Given the description of an element on the screen output the (x, y) to click on. 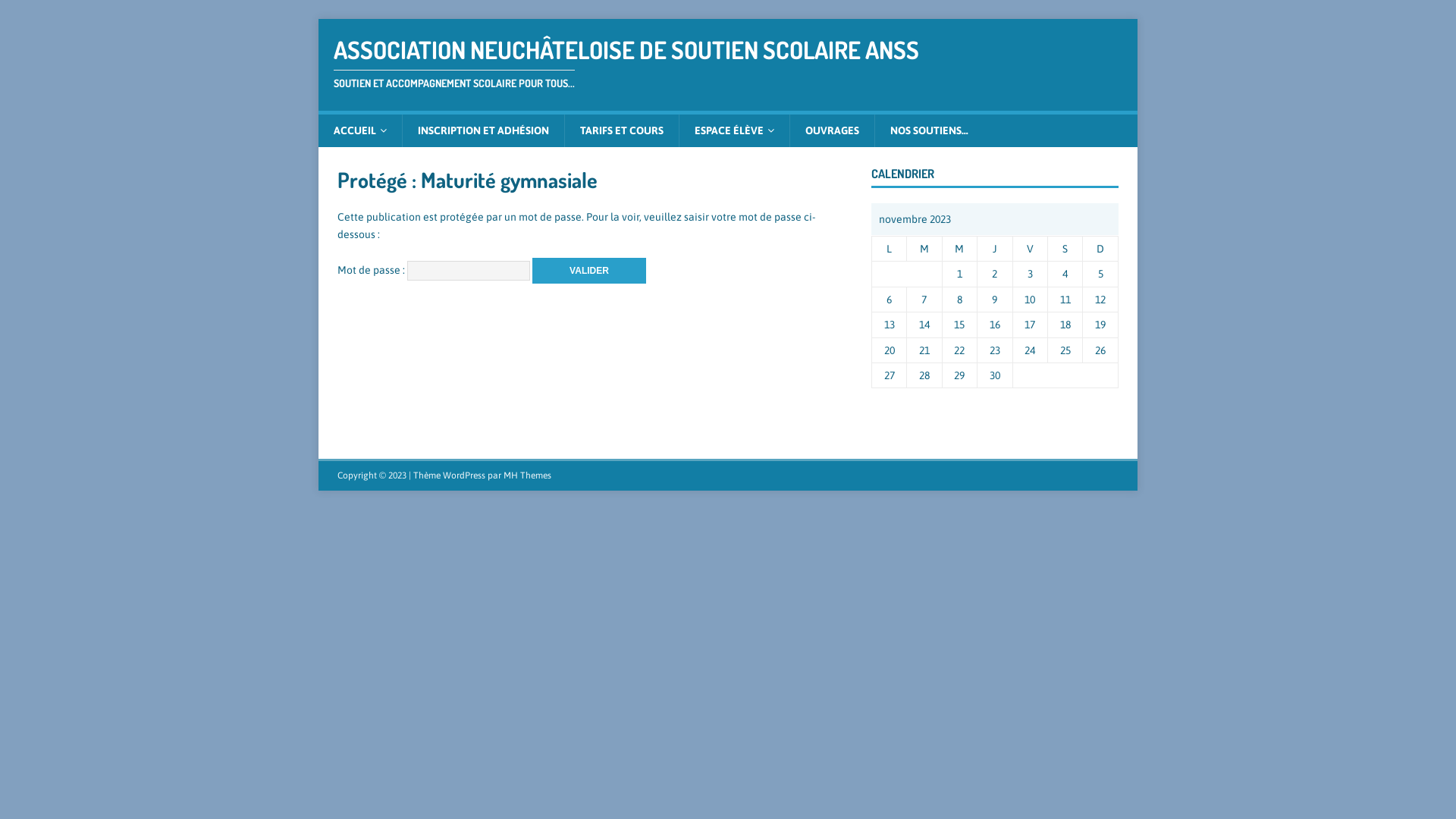
TARIFS ET COURS Element type: text (621, 130)
MH Themes Element type: text (527, 475)
ACCUEIL Element type: text (359, 130)
OUVRAGES Element type: text (831, 130)
Valider Element type: text (589, 270)
